Given the description of an element on the screen output the (x, y) to click on. 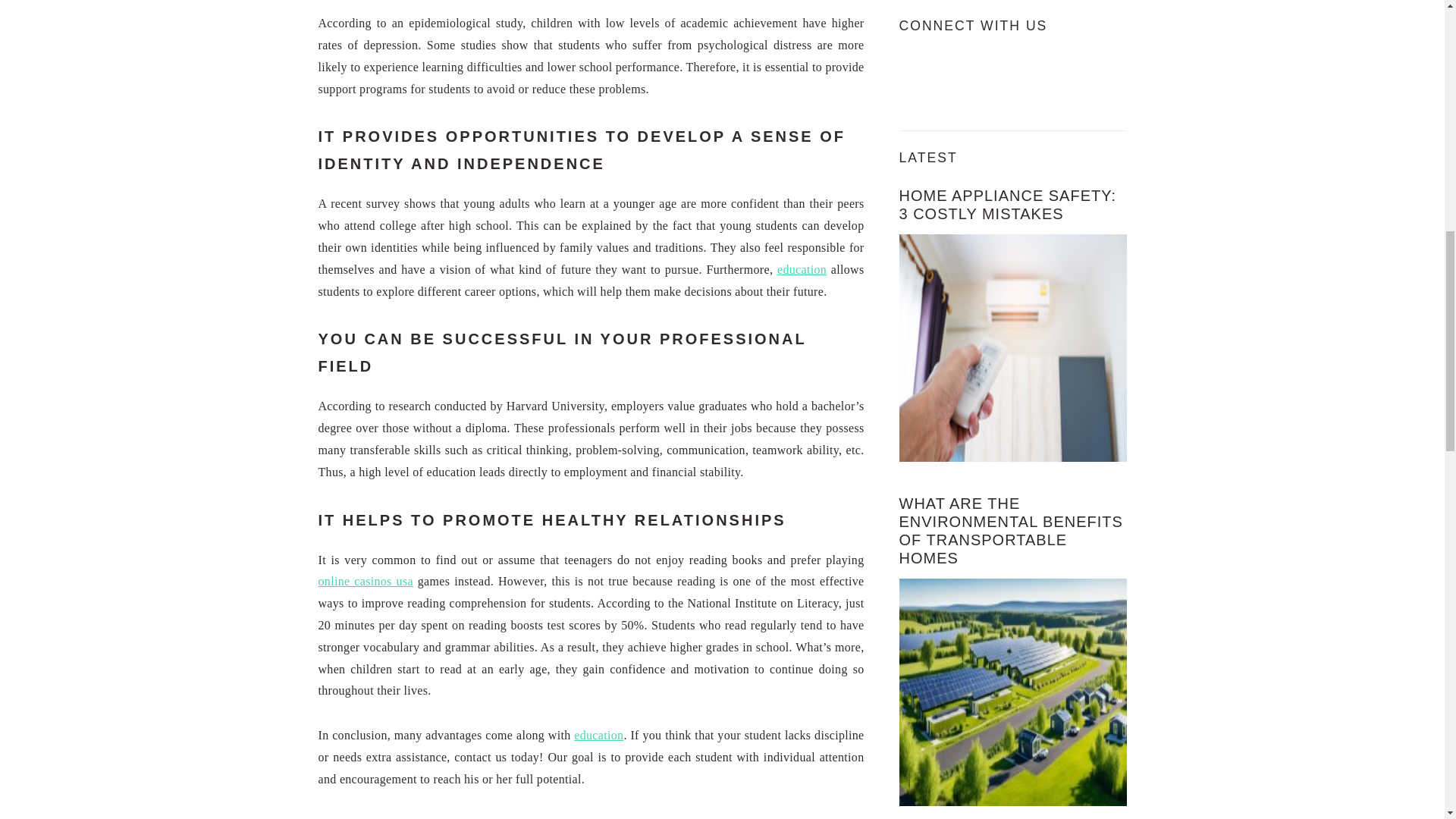
education (598, 735)
What are the Environmental Benefits of Transportable Homes (1012, 691)
HOME APPLIANCE SAFETY: 3 COSTLY MISTAKES (1007, 204)
online casinos usa (365, 581)
Home Appliance Safety: 3 Costly Mistakes (1012, 347)
WHAT ARE THE ENVIRONMENTAL BENEFITS OF TRANSPORTABLE HOMES (1010, 530)
education (802, 269)
